Given the description of an element on the screen output the (x, y) to click on. 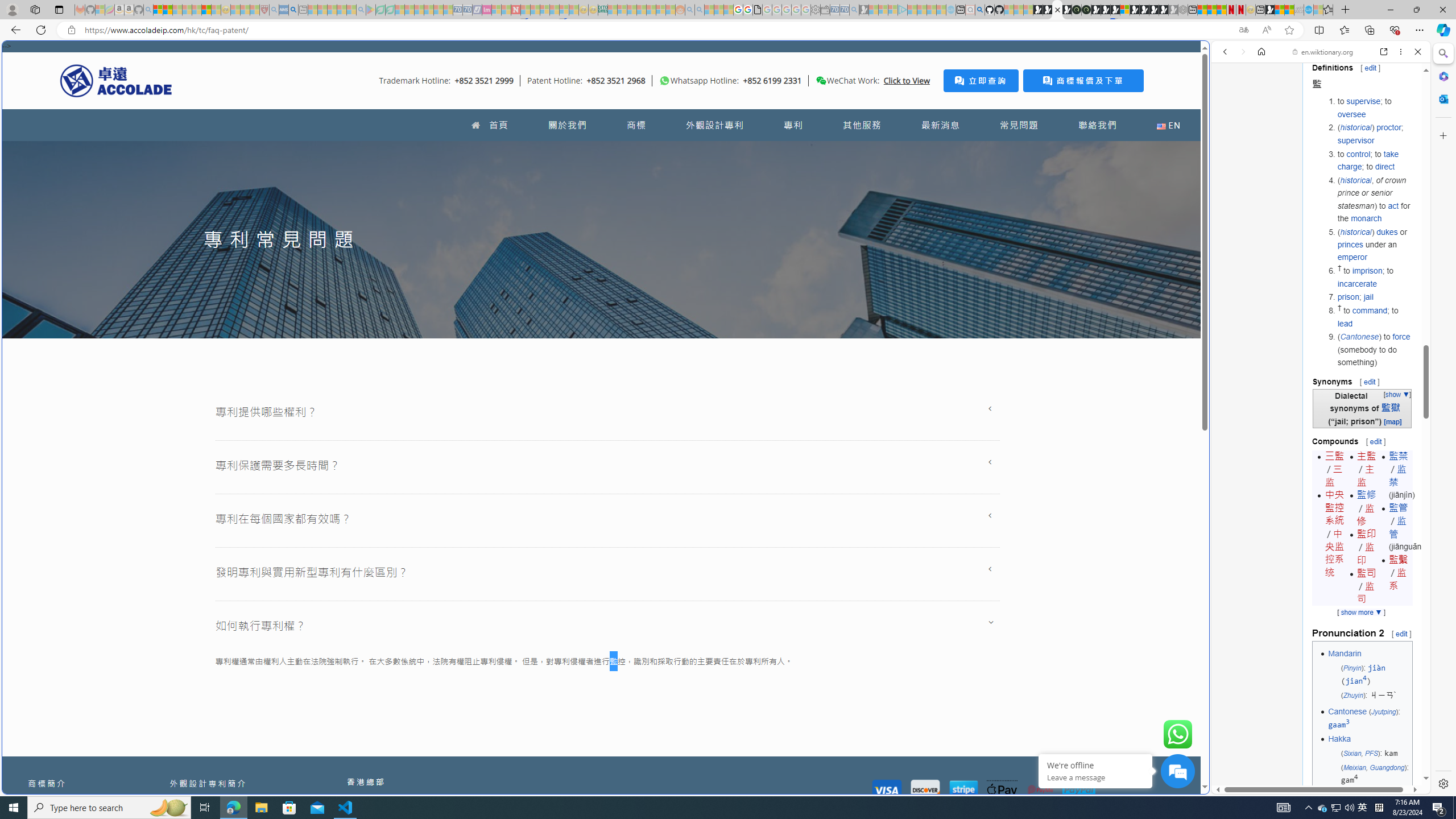
emperor (1351, 257)
Mandarin (1344, 652)
Sixian (1351, 752)
